Given the description of an element on the screen output the (x, y) to click on. 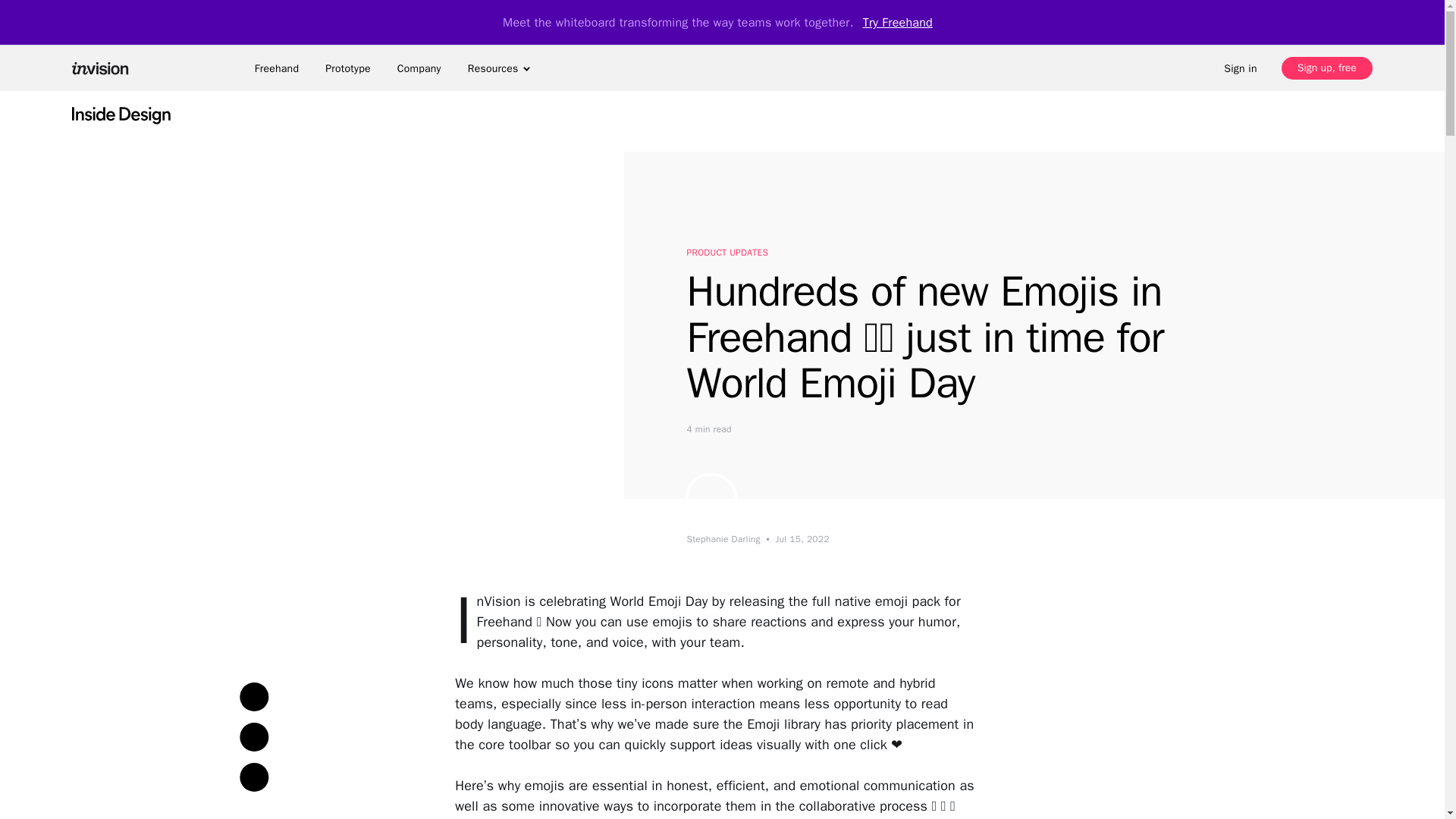
InVisionApp, Inc. (105, 67)
company (419, 67)
Freehand (276, 67)
prototype (347, 67)
resources (499, 67)
Prototype (347, 67)
freehand (276, 67)
Try Freehand (897, 22)
Inside Design (120, 113)
invisionapp, inc. (105, 67)
